Given the description of an element on the screen output the (x, y) to click on. 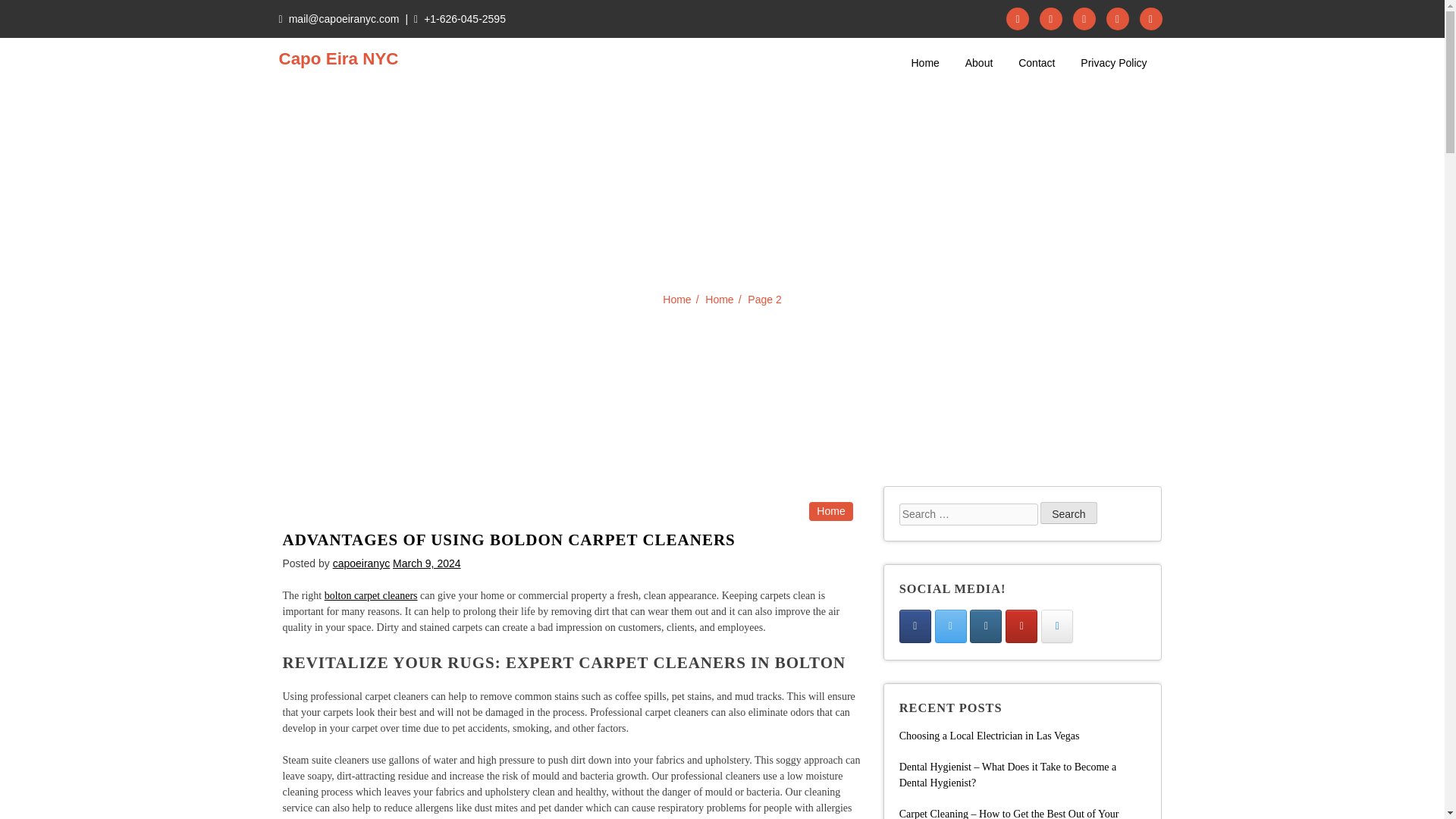
About (978, 63)
Capo Eira NYC on Facebook (915, 625)
Capo Eira NYC (338, 58)
YouTube (1149, 18)
Capo Eira NYC on Skype (1057, 625)
bolton carpet cleaners (370, 595)
Instagram (1084, 18)
Search (1068, 513)
Home (830, 510)
Twitter (1050, 18)
